Given the description of an element on the screen output the (x, y) to click on. 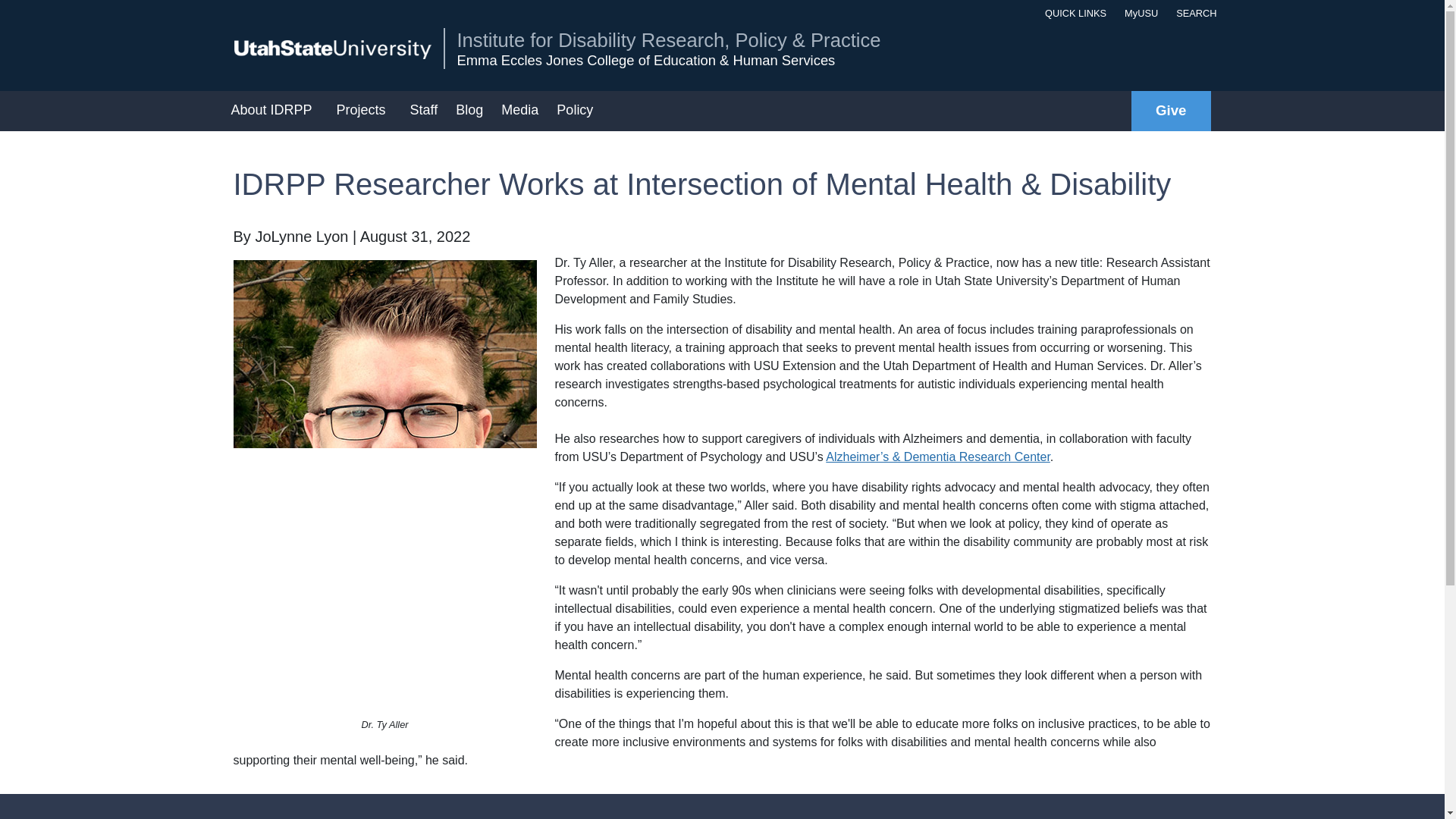
SEARCH (1193, 13)
Projects (364, 110)
MyUSU (1137, 13)
QUICK LINKS (1072, 13)
About IDRPP (273, 110)
